Given the description of an element on the screen output the (x, y) to click on. 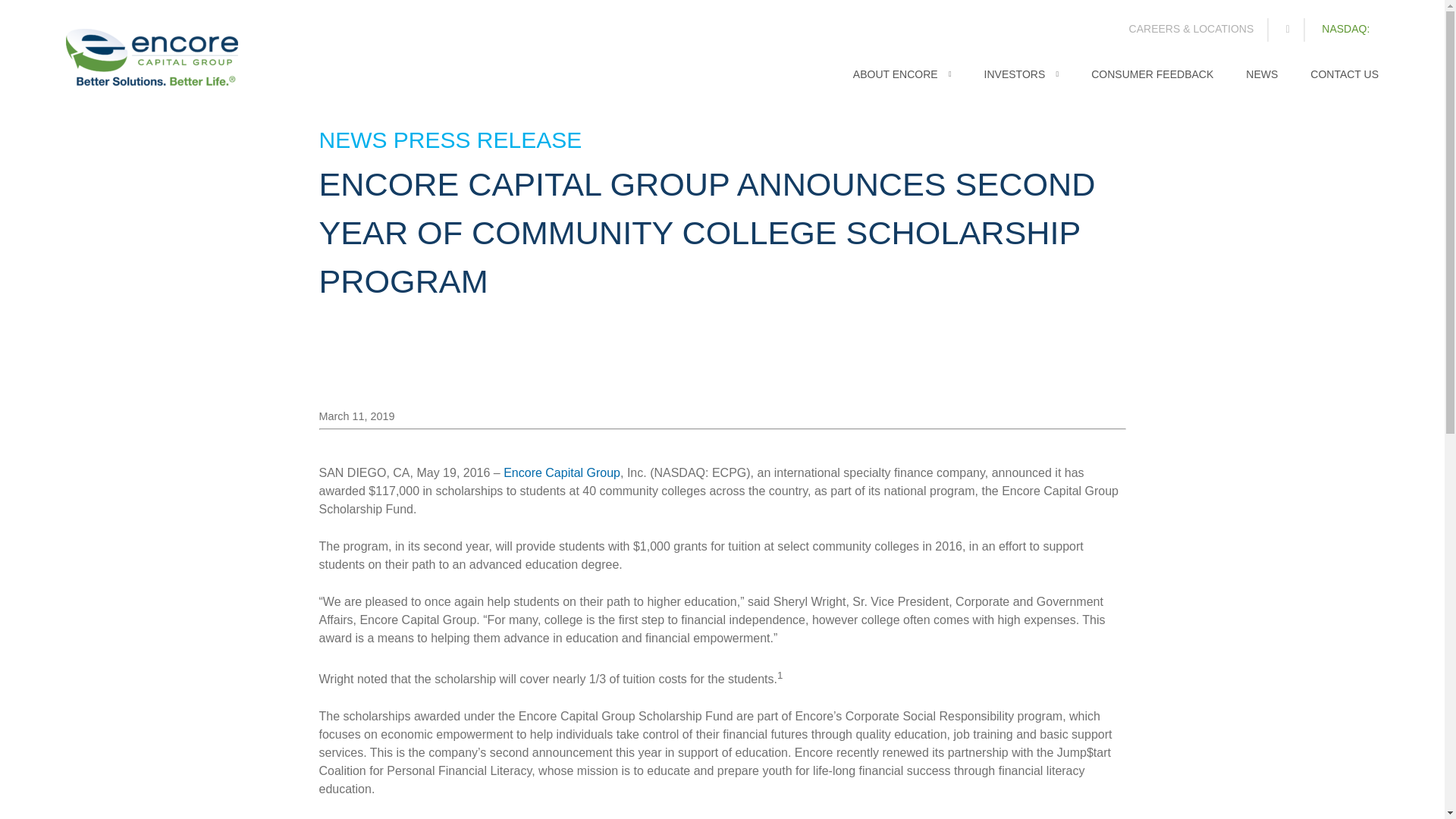
Encore Capital Group (561, 472)
ABOUT ENCORE (902, 81)
CONTACT US (1344, 81)
NEWS (1262, 81)
CONSUMER FEEDBACK (1151, 81)
INVESTORS (1021, 81)
